Given the description of an element on the screen output the (x, y) to click on. 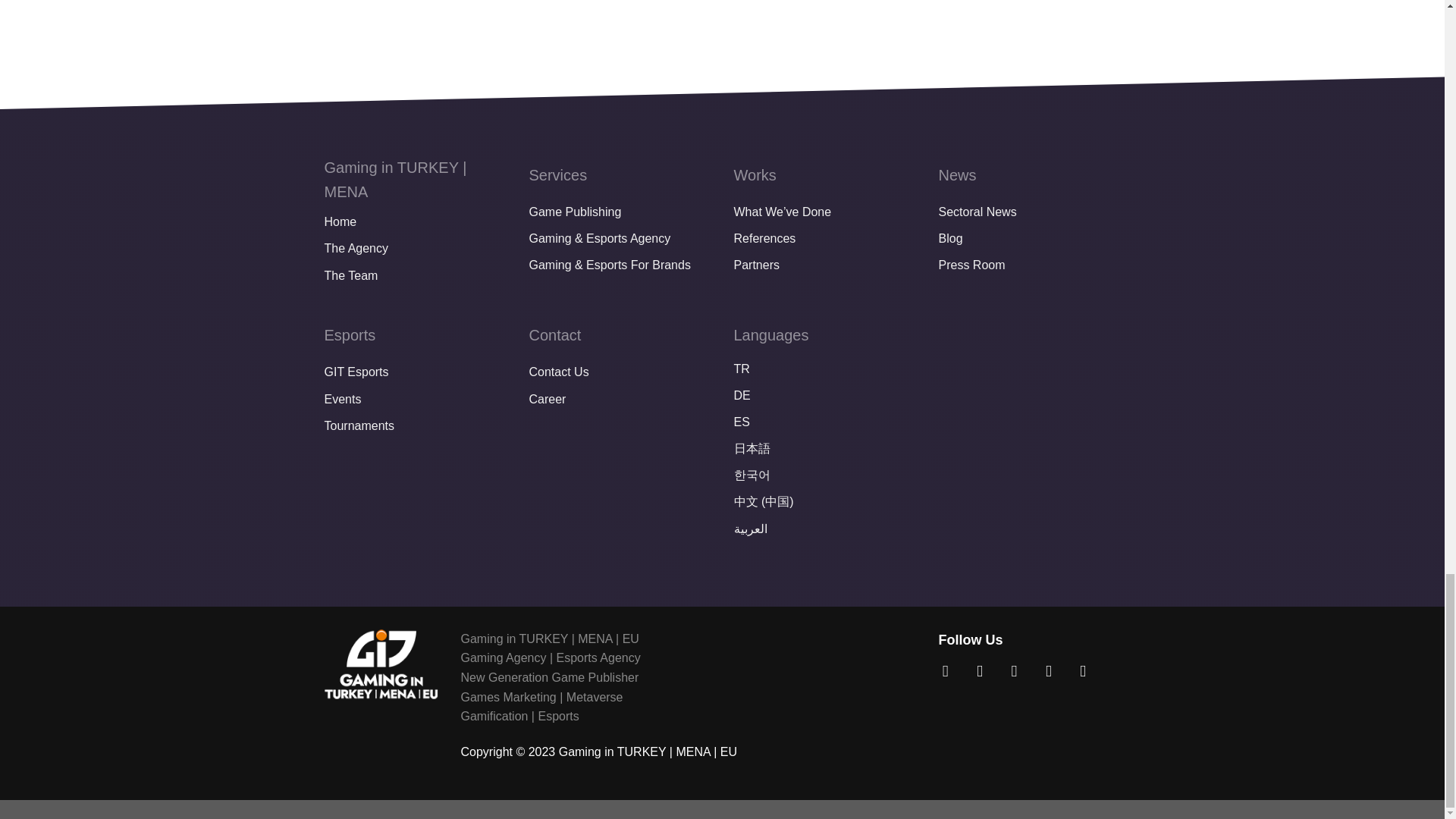
Home (415, 221)
Follow on LinkedIn (1053, 670)
Follow on YouTube (1088, 670)
Follow on Facebook (950, 670)
Follow on Instagram (984, 670)
The Agency (415, 248)
Follow on Twitter (1019, 670)
